Given the description of an element on the screen output the (x, y) to click on. 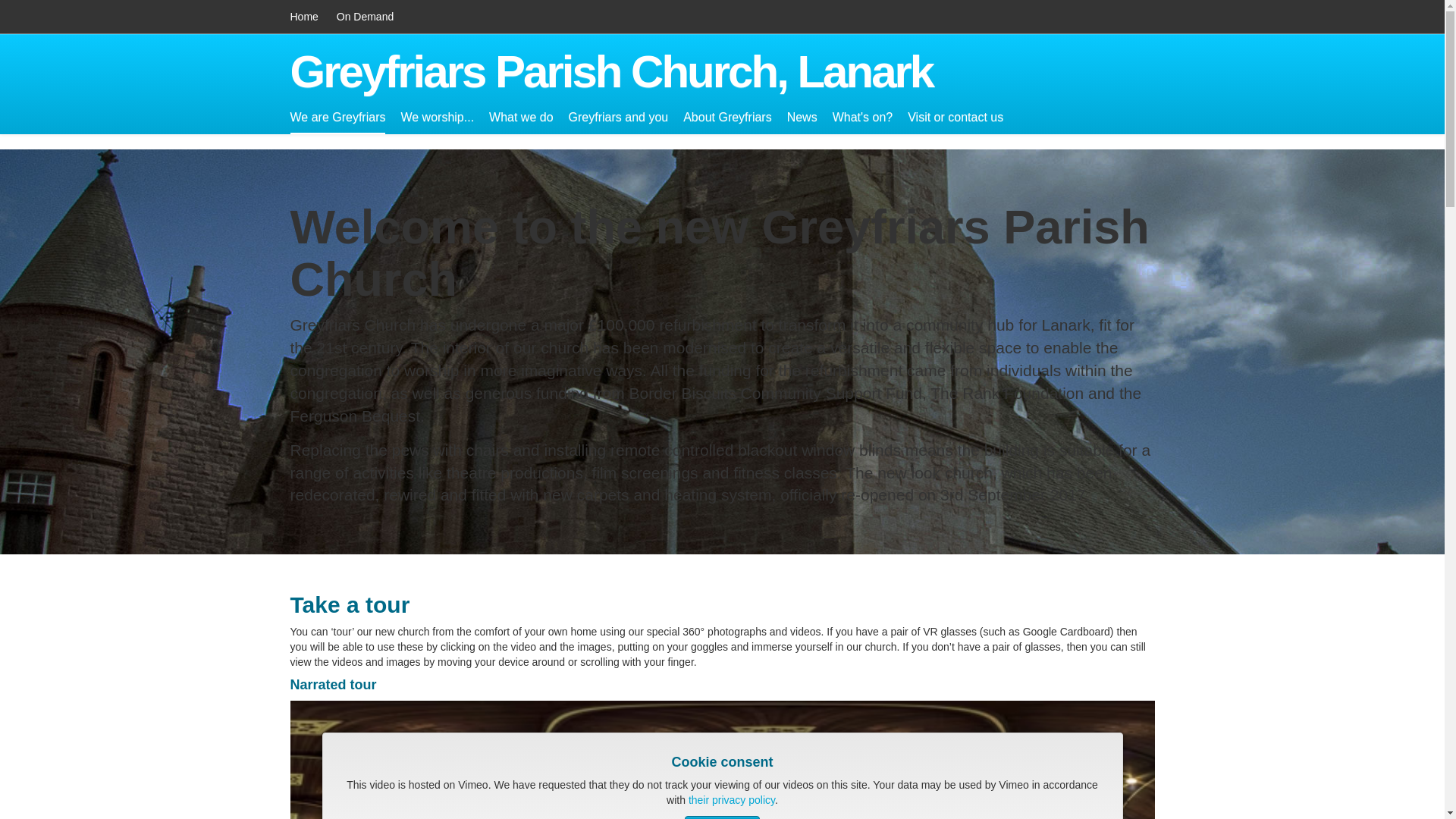
Home (303, 17)
We are Greyfriars (337, 118)
About Greyfriars (726, 118)
About Greyfriars (726, 118)
their privacy policy (731, 799)
We are Greyfriars (337, 118)
Greyfriars and you (618, 118)
What's on? (862, 118)
What's on? (862, 118)
News (801, 118)
We worship... (437, 118)
Visit or contact us (955, 118)
Home (303, 17)
What we do (521, 118)
On Demand (364, 17)
